Given the description of an element on the screen output the (x, y) to click on. 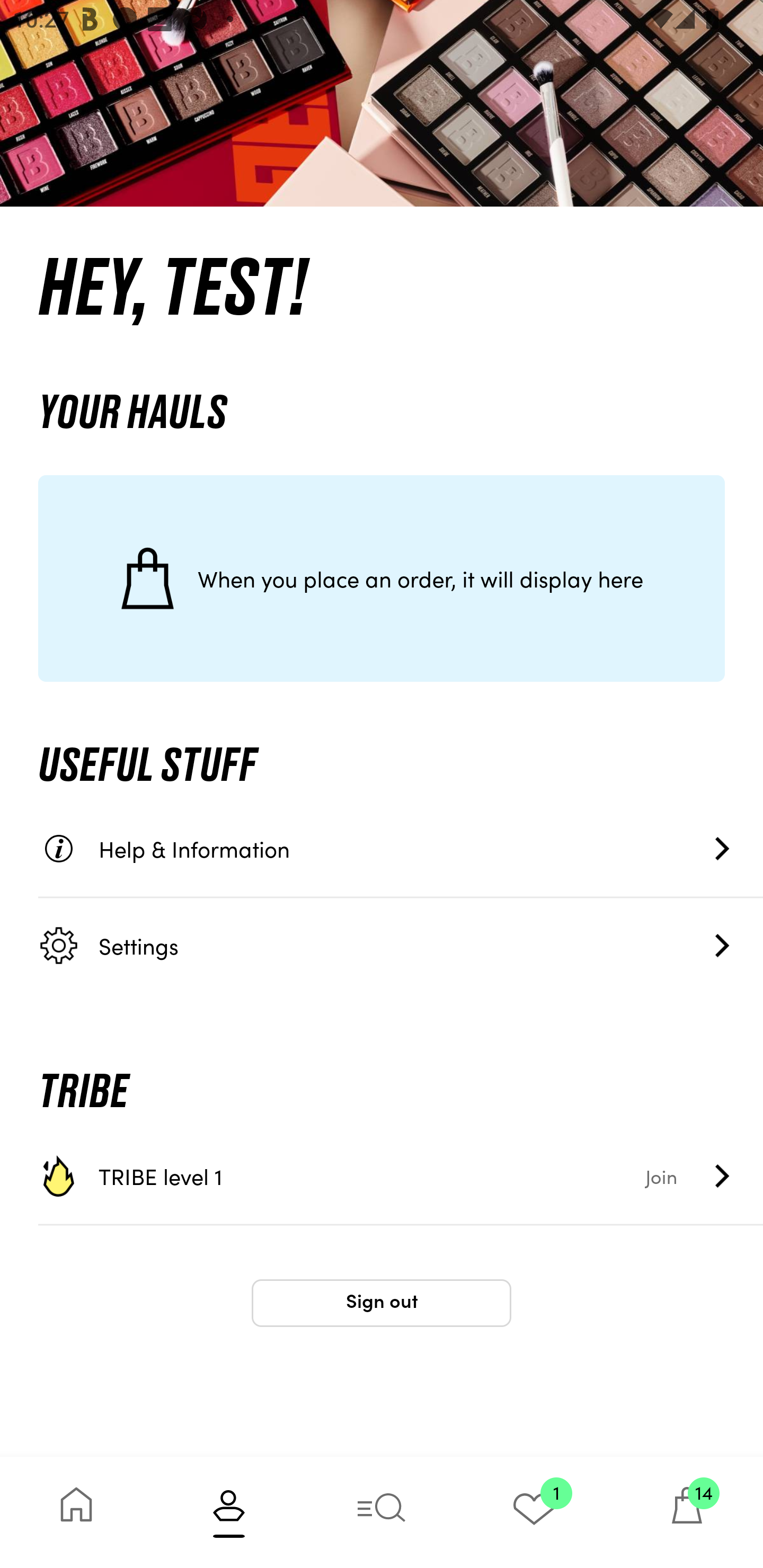
Help & Information (400, 848)
Settings (400, 945)
TRIBE level 1 Join (400, 1175)
Sign out (381, 1302)
1 (533, 1512)
14 (686, 1512)
